Given the description of an element on the screen output the (x, y) to click on. 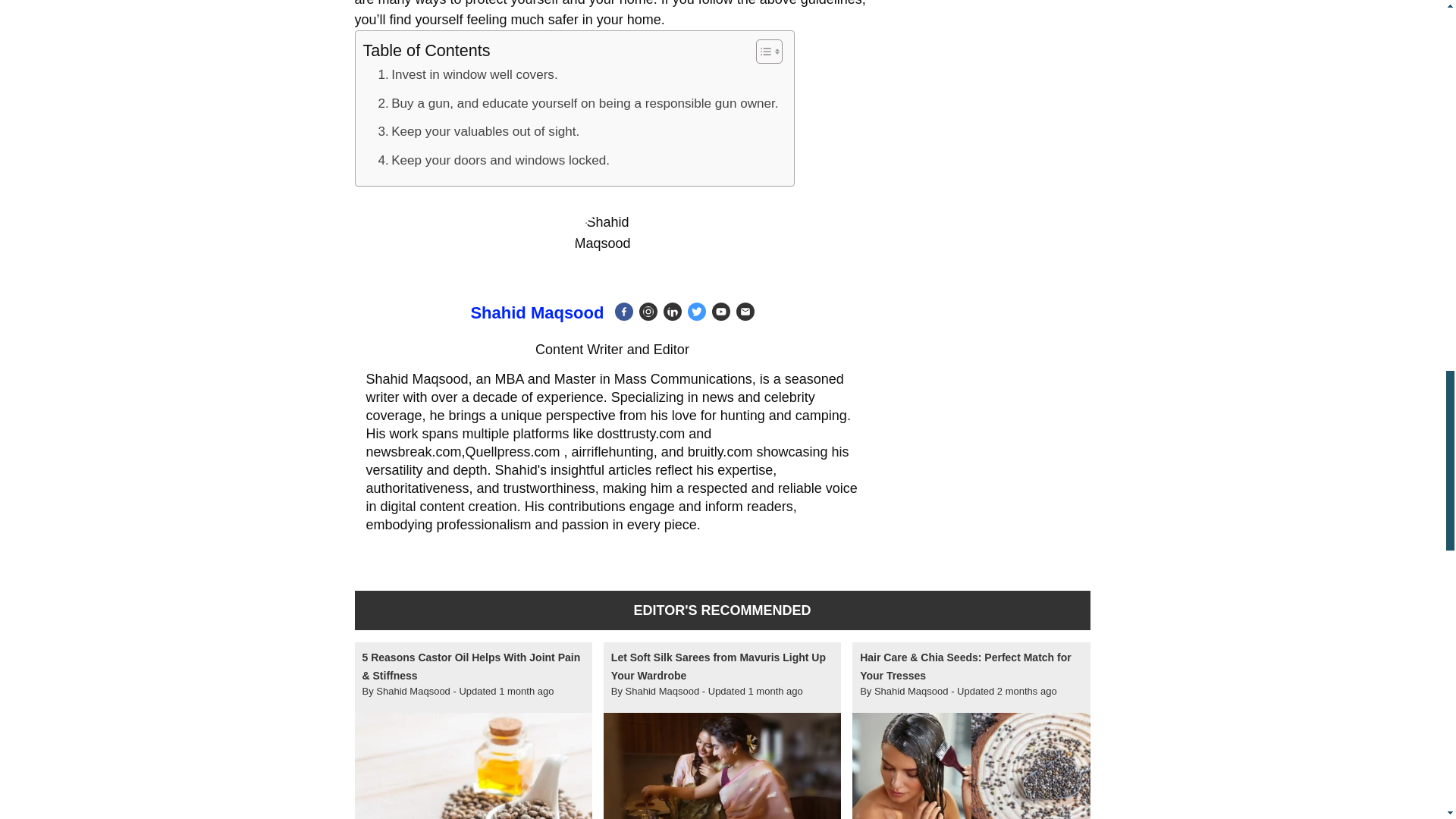
Invest in window well covers. (467, 74)
Shahid Maqsood (537, 312)
Keep your doors and windows locked. (493, 159)
Keep your valuables out of sight. (478, 131)
Invest in window well covers. (467, 74)
Keep your doors and windows locked. (493, 159)
Keep your valuables out of sight. (478, 131)
